Given the description of an element on the screen output the (x, y) to click on. 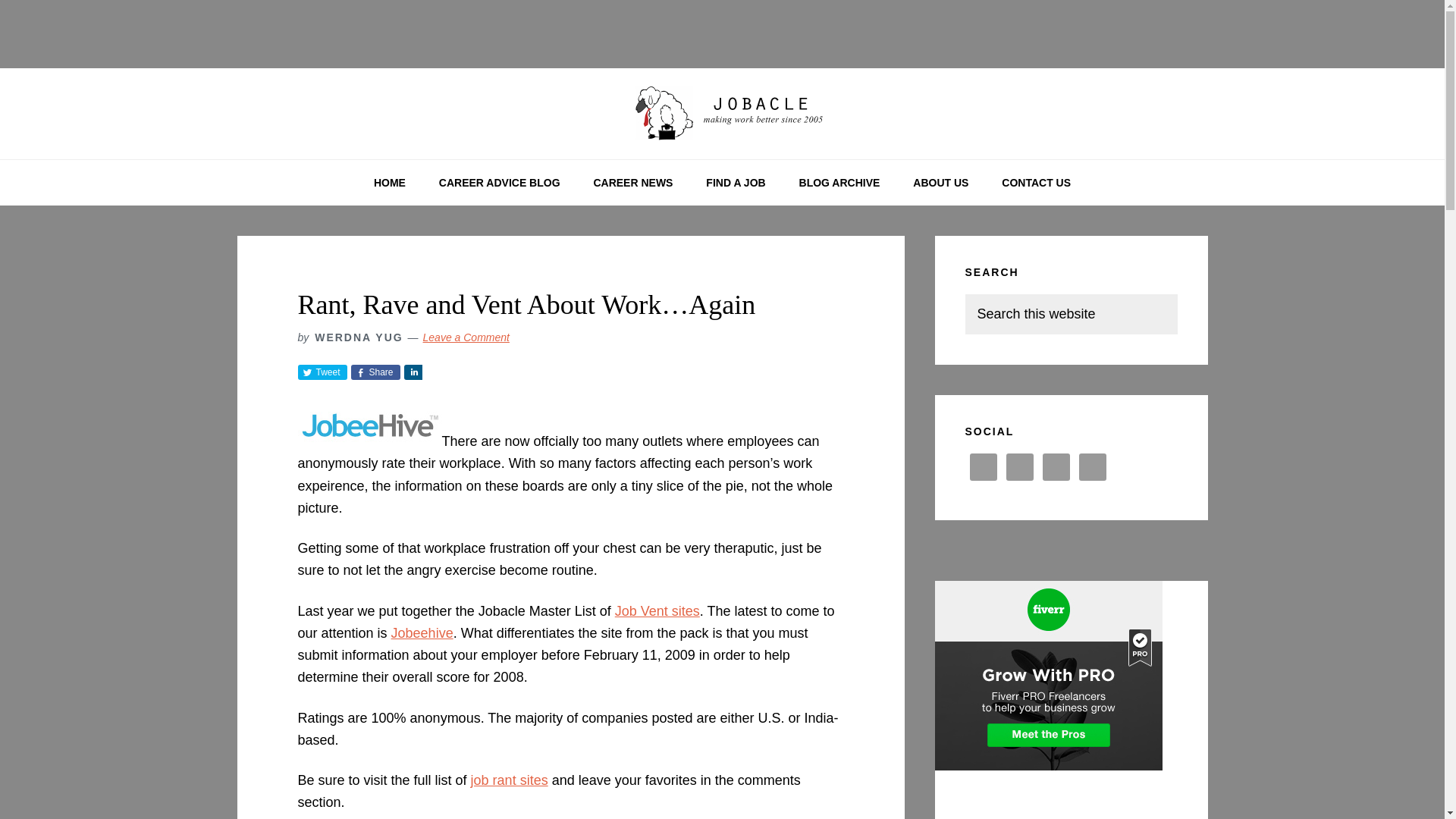
job rant sites (509, 780)
Jobacle.com (721, 113)
CAREER ADVICE BLOG (499, 182)
Leave a Comment (466, 337)
Share (412, 372)
Share (374, 372)
Job Vent sites (657, 611)
FIND A JOB (735, 182)
